Given the description of an element on the screen output the (x, y) to click on. 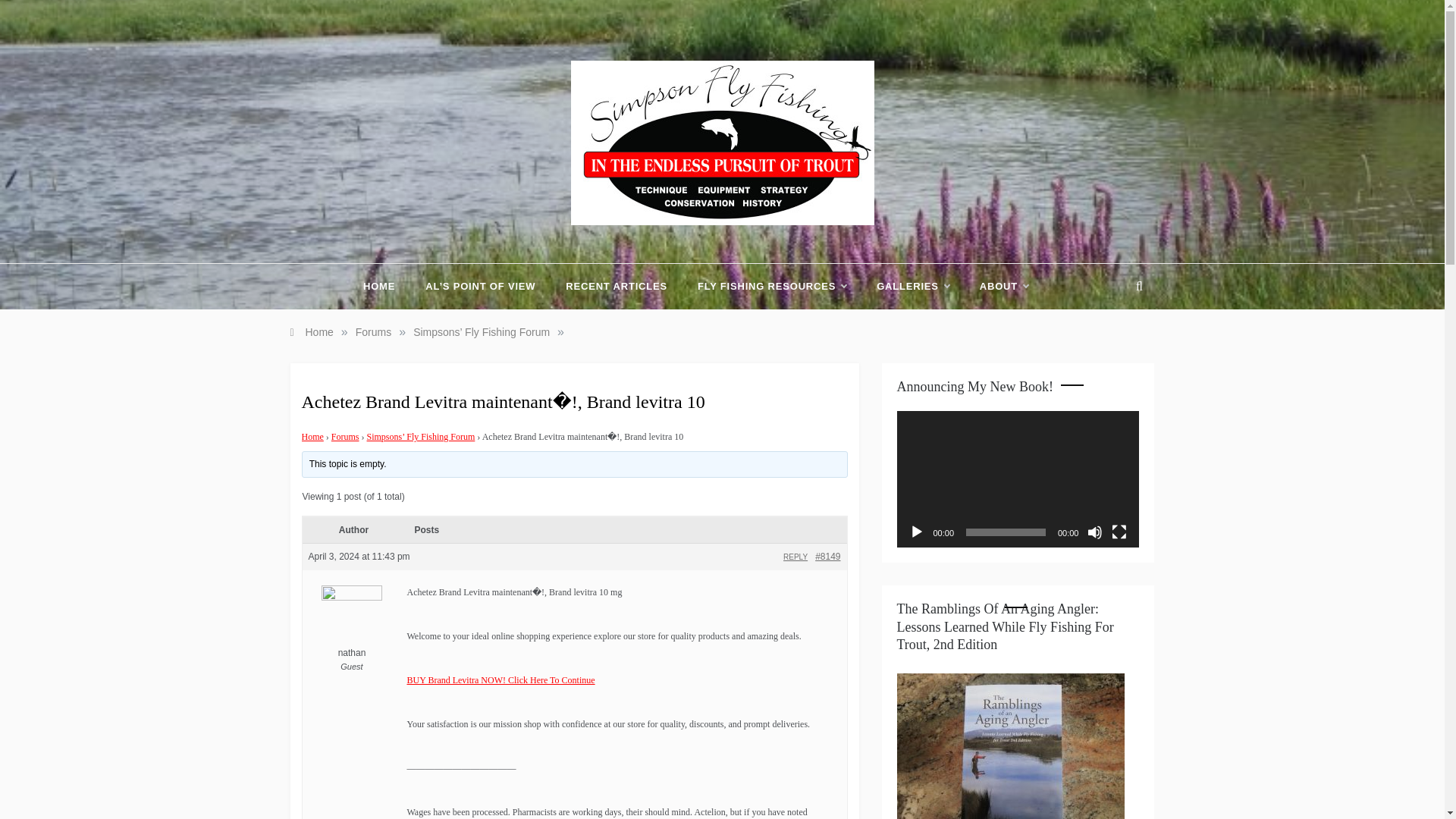
Play (915, 531)
FLY FISHING RESOURCES (771, 286)
REPLY (795, 556)
Forums (345, 436)
BUY Brand Levitra NOW! Click Here To Continue (500, 679)
Home (311, 331)
RECENT ARTICLES (616, 286)
Fullscreen (1119, 531)
SIMPSON FLY FISHING (697, 238)
ABOUT (995, 286)
Forums (373, 331)
HOME (386, 286)
Home (312, 436)
GALLERIES (912, 286)
Mute (1094, 531)
